Given the description of an element on the screen output the (x, y) to click on. 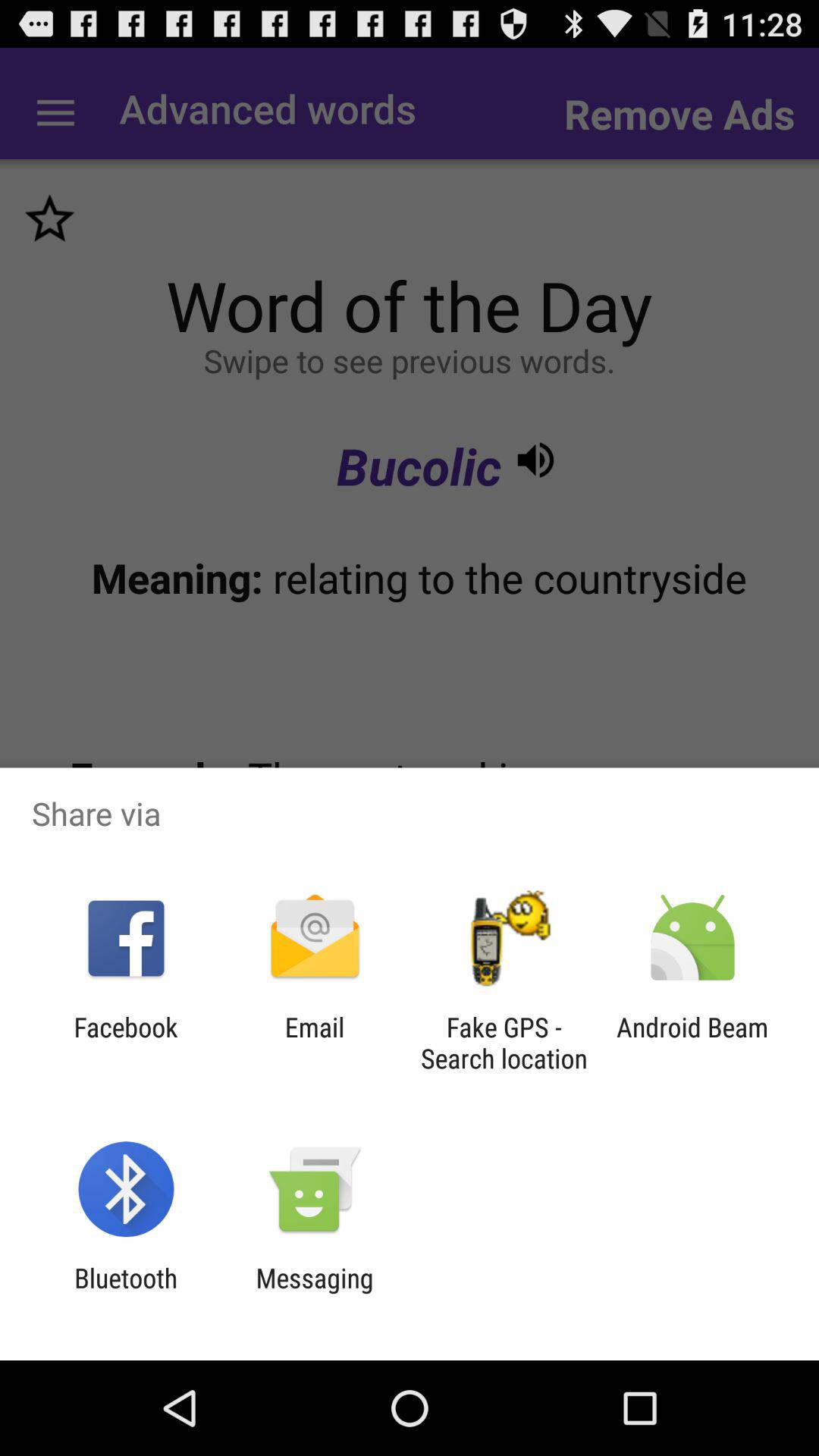
press item to the right of email app (503, 1042)
